Given the description of an element on the screen output the (x, y) to click on. 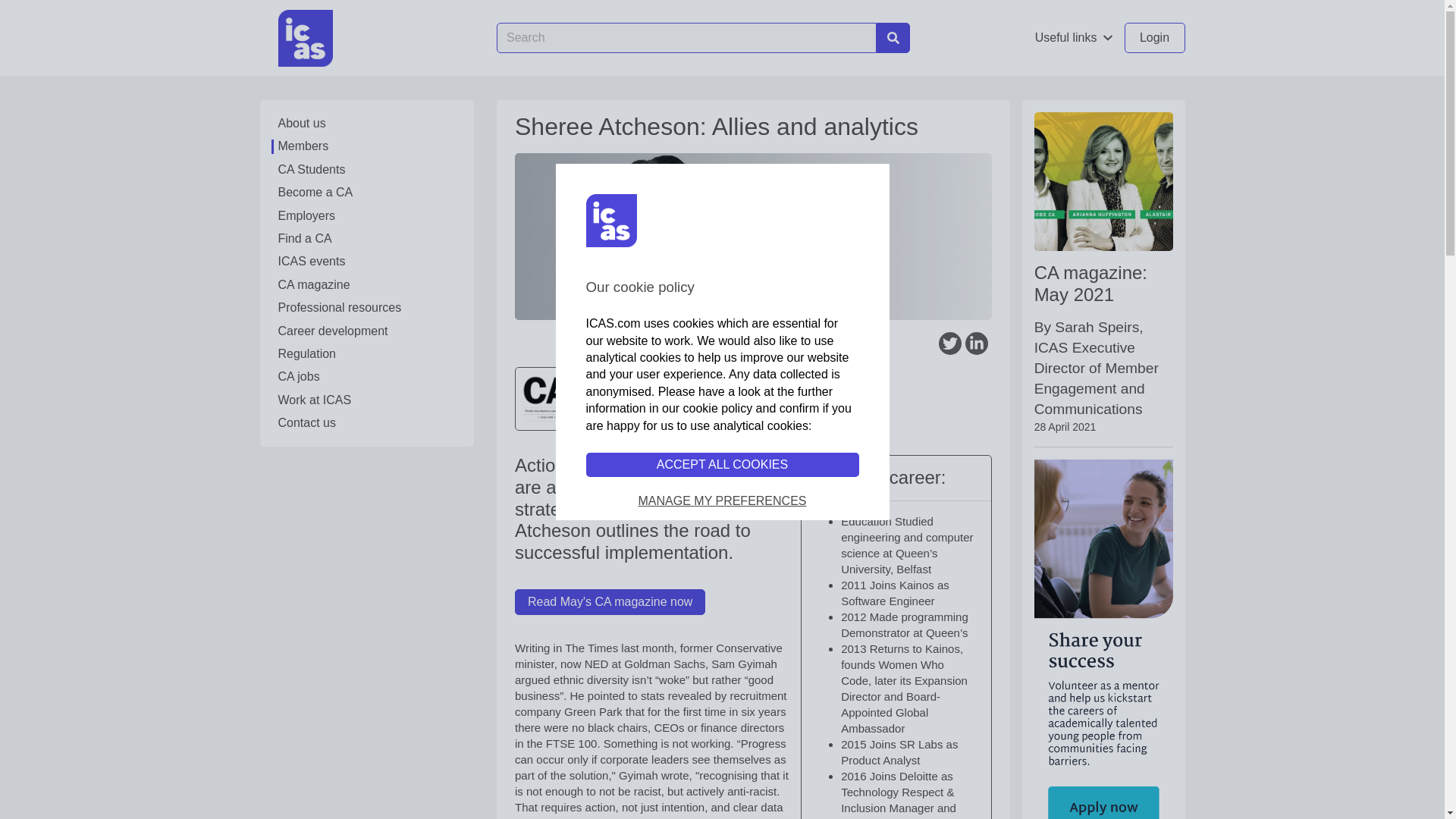
Search (893, 37)
ICAS (305, 37)
About us (366, 123)
Useful links (1073, 37)
Login (1154, 37)
Members (366, 146)
CA Students (366, 169)
